Given the description of an element on the screen output the (x, y) to click on. 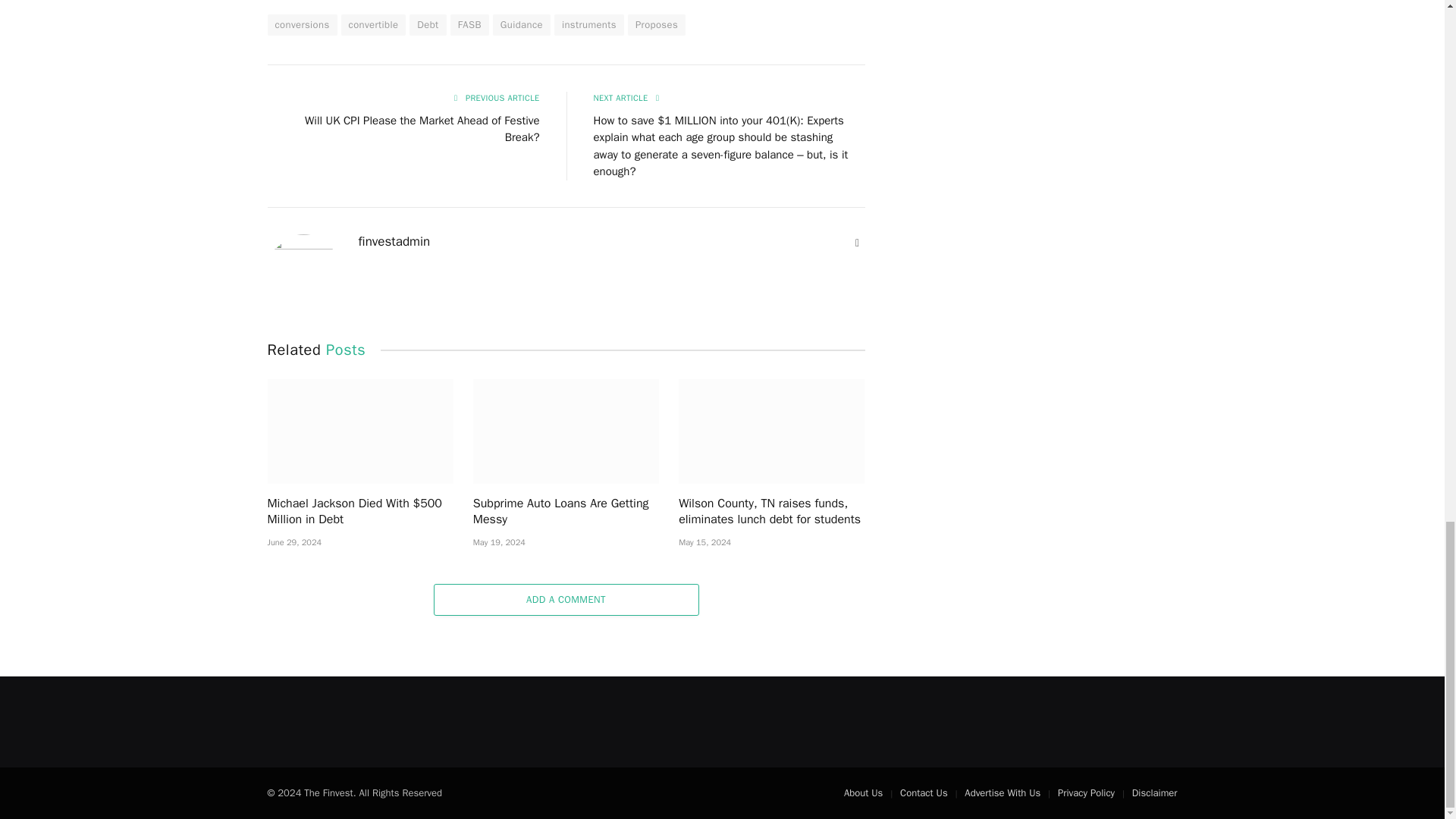
Guidance (521, 25)
conversions (301, 25)
convertible (373, 25)
FASB (469, 25)
Posts by finvestadmin (393, 241)
Debt (427, 25)
Subprime Auto Loans Are Getting Messy (566, 431)
Website (856, 242)
instruments (589, 25)
